Given the description of an element on the screen output the (x, y) to click on. 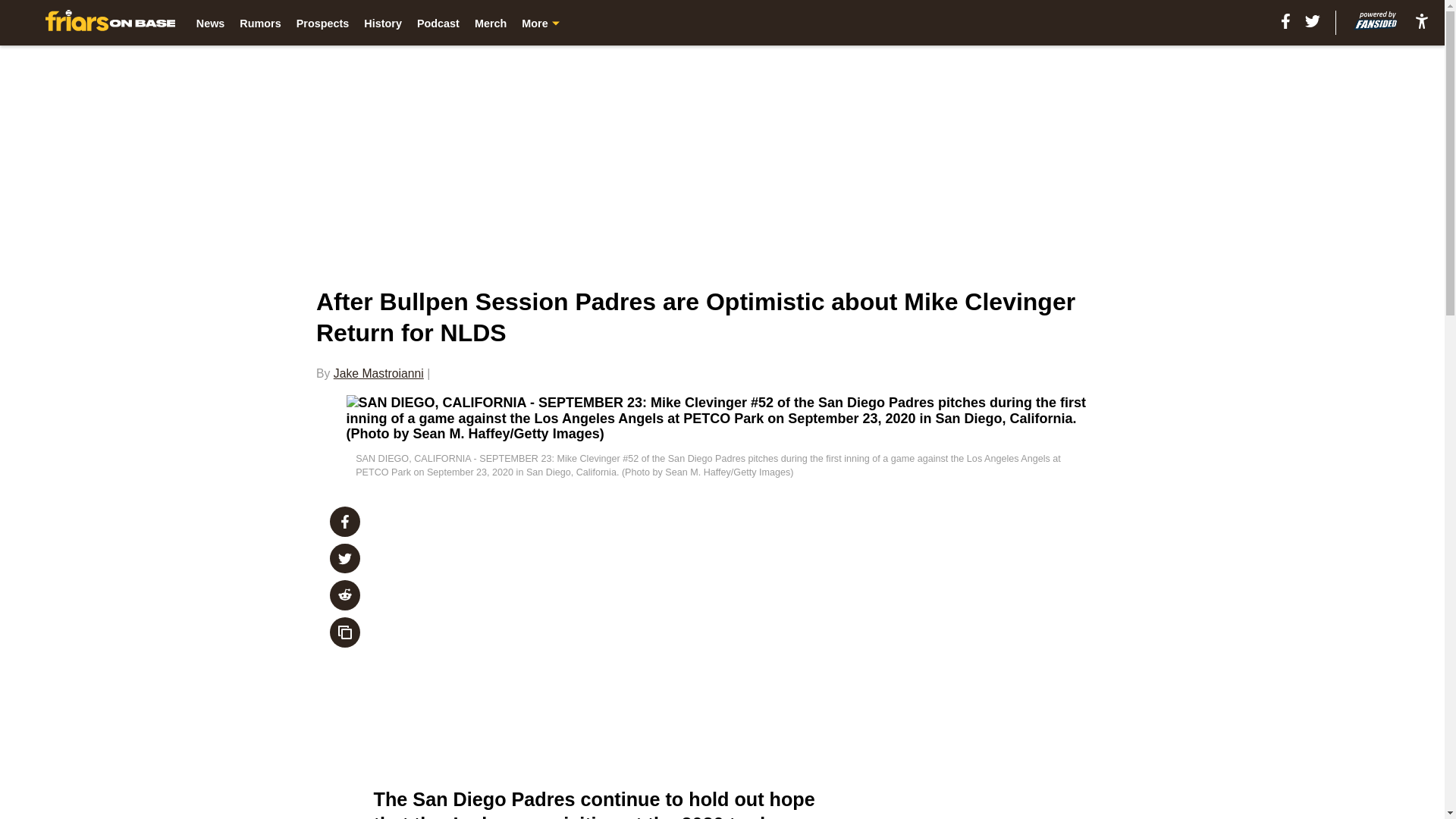
Prospects (323, 23)
History (382, 23)
News (210, 23)
Rumors (260, 23)
Merch (490, 23)
Podcast (438, 23)
Jake Mastroianni (378, 373)
